Given the description of an element on the screen output the (x, y) to click on. 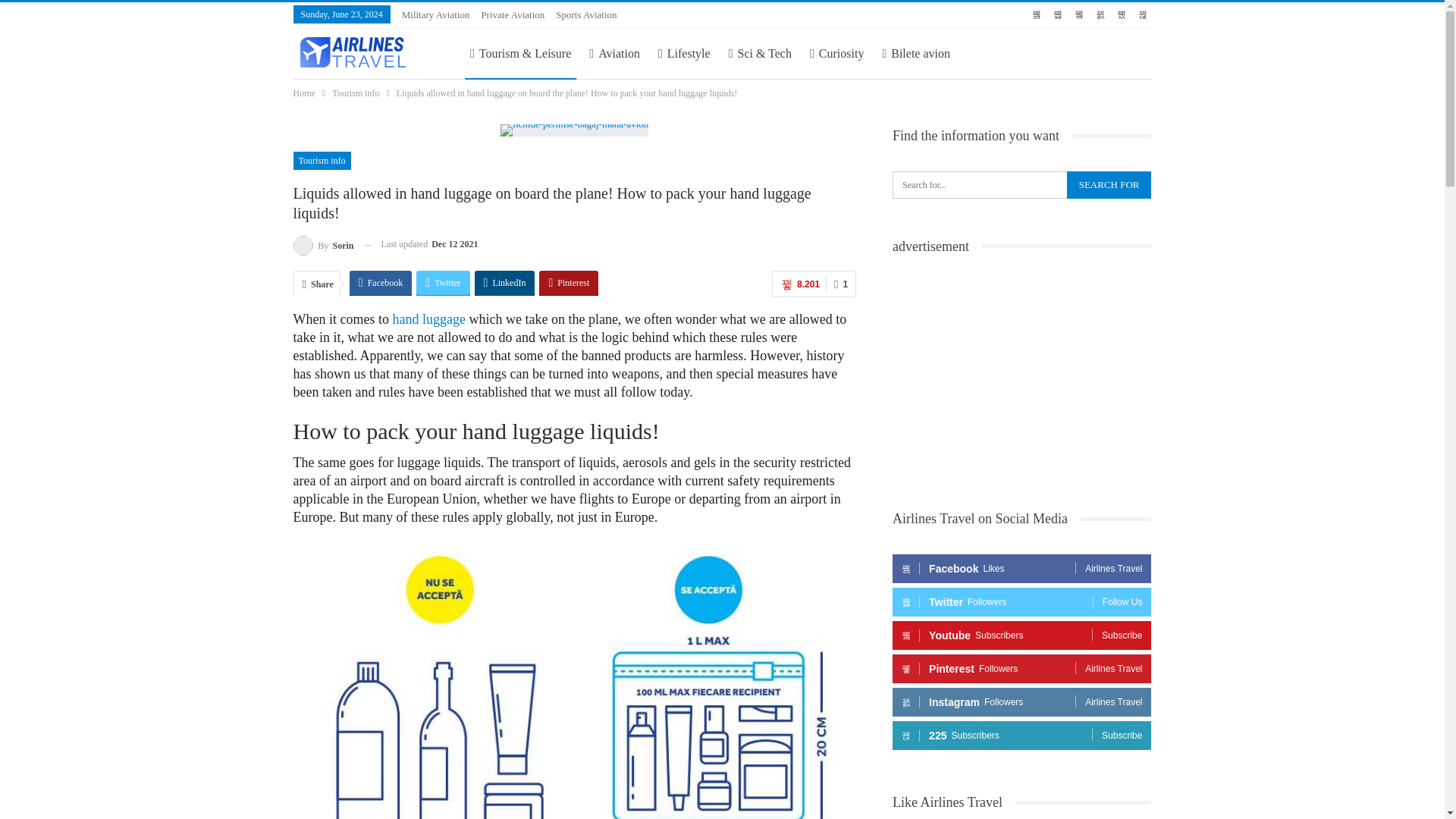
1 (840, 284)
LinkedIn (504, 282)
Twitter (442, 282)
Sports Aviation (585, 14)
Curiosity (837, 53)
tourism (520, 53)
Bilete avion (915, 53)
Search for (1109, 185)
Pinterest (568, 282)
Search for (1109, 185)
Aviation (614, 53)
Cauta: (1021, 185)
Lifestyle (684, 53)
hand luggage (427, 319)
Browse the author's articles (322, 244)
